Given the description of an element on the screen output the (x, y) to click on. 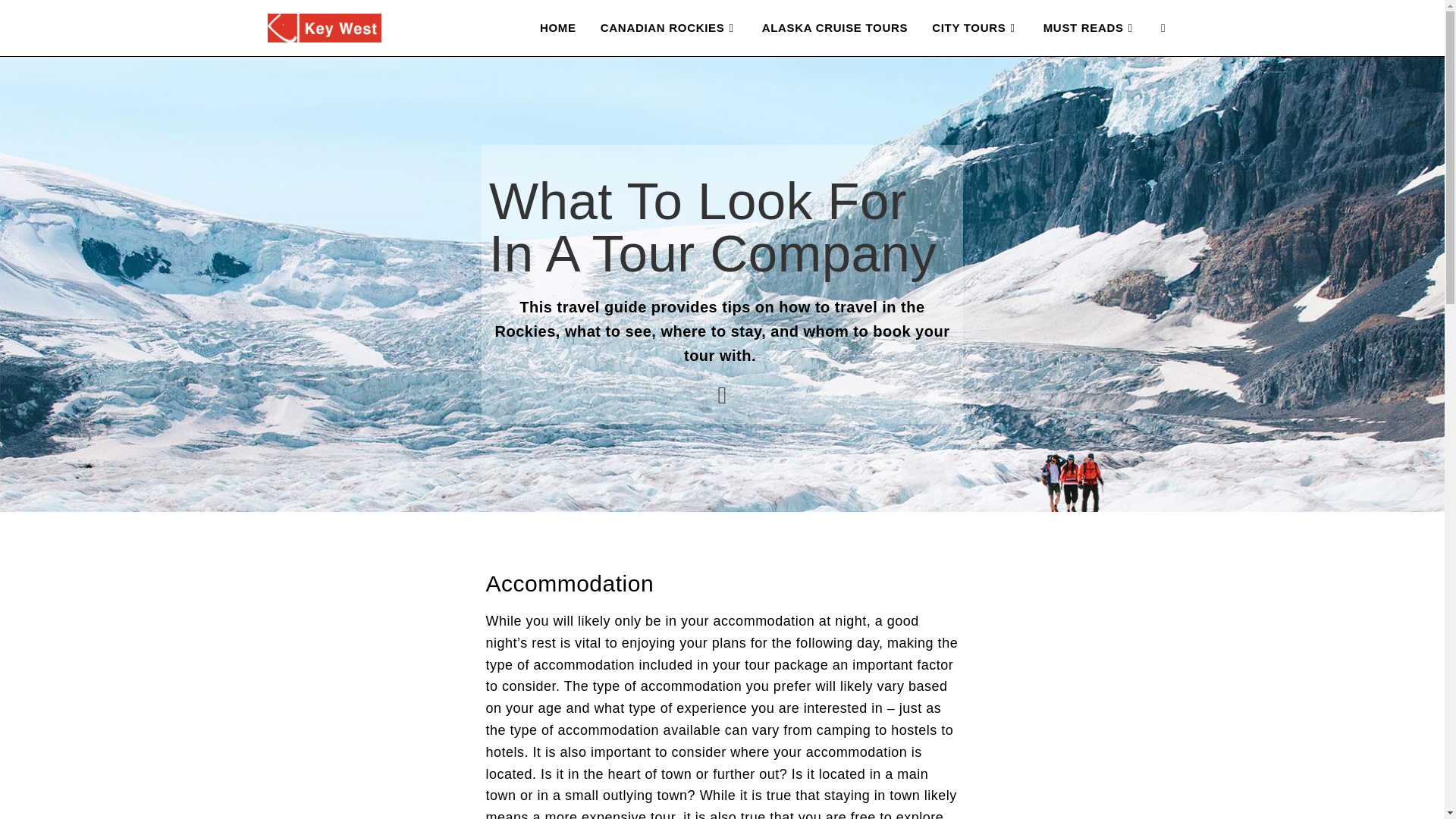
CITY TOURS (975, 28)
HOME (557, 28)
ALASKA CRUISE TOURS (834, 28)
CANADIAN ROCKIES (668, 28)
MUST READS (1089, 28)
